Given the description of an element on the screen output the (x, y) to click on. 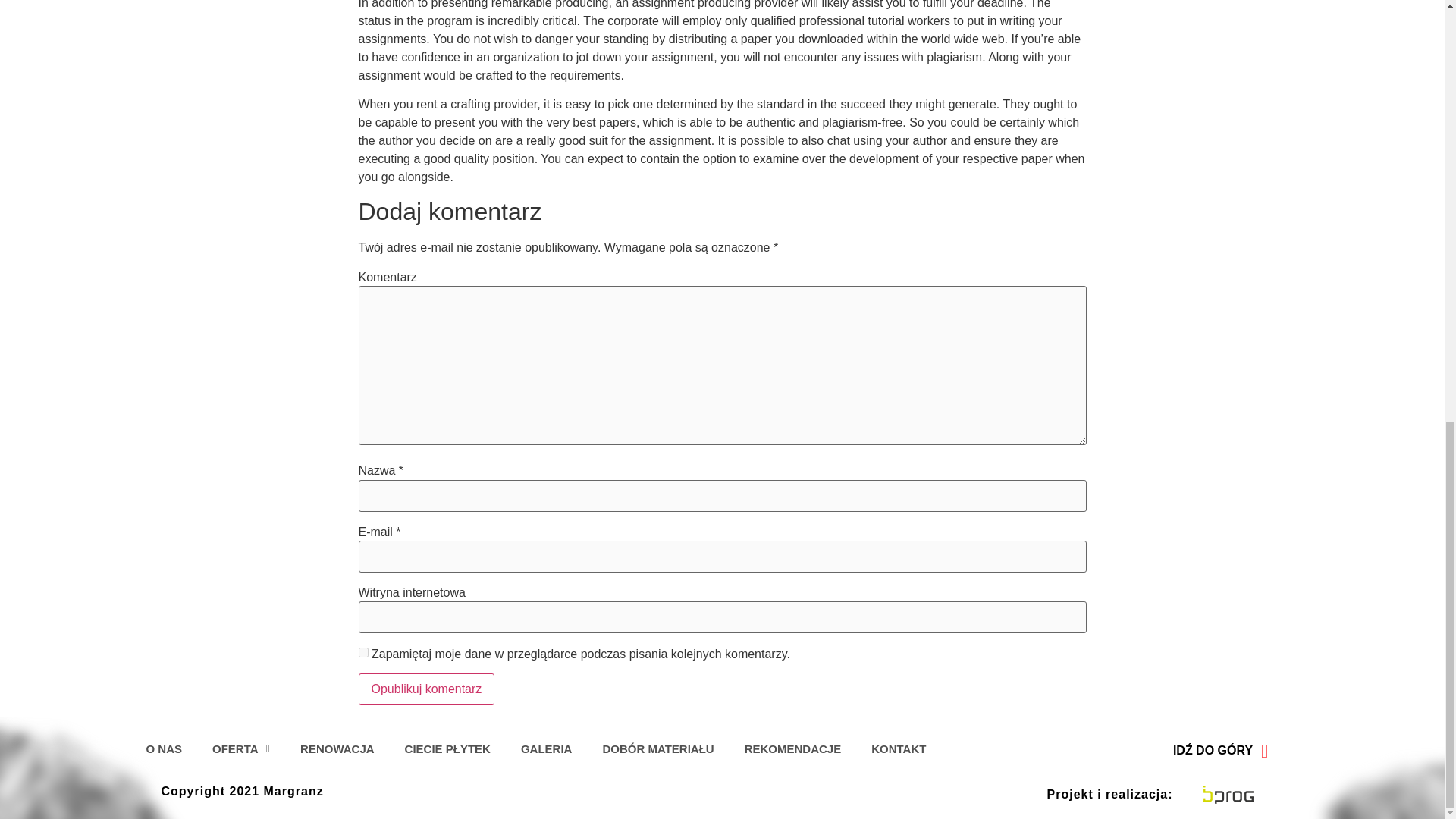
yes (363, 652)
Opublikuj komentarz (426, 689)
RENOWACJA (337, 749)
OFERTA (240, 749)
Opublikuj komentarz (426, 689)
GALERIA (546, 749)
REKOMENDACJE (793, 749)
O NAS (163, 749)
